Given the description of an element on the screen output the (x, y) to click on. 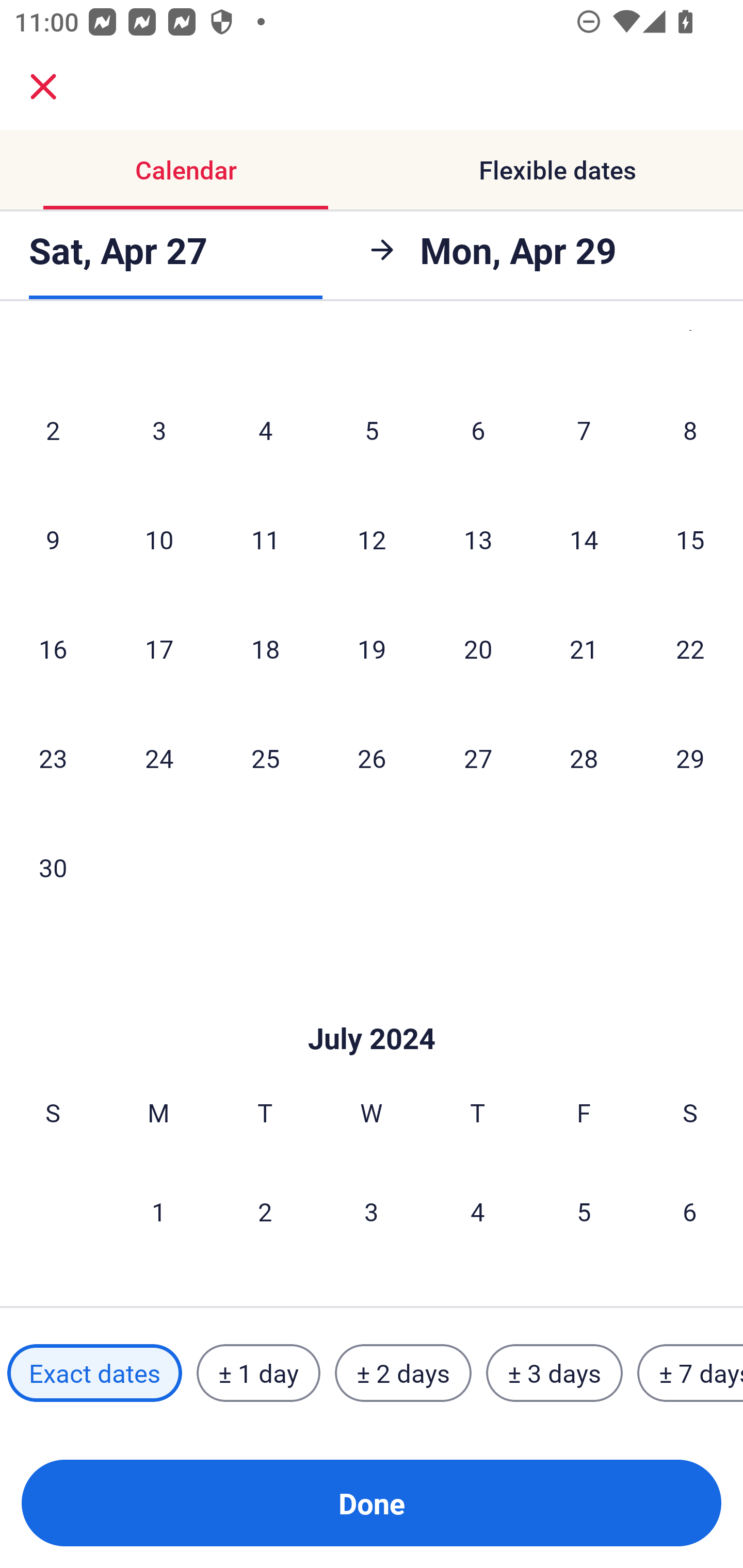
close. (43, 86)
Flexible dates (557, 170)
2 Sunday, June 2, 2024 (53, 429)
3 Monday, June 3, 2024 (159, 429)
4 Tuesday, June 4, 2024 (265, 429)
5 Wednesday, June 5, 2024 (371, 429)
6 Thursday, June 6, 2024 (477, 429)
7 Friday, June 7, 2024 (584, 429)
8 Saturday, June 8, 2024 (690, 429)
9 Sunday, June 9, 2024 (53, 539)
10 Monday, June 10, 2024 (159, 539)
11 Tuesday, June 11, 2024 (265, 539)
12 Wednesday, June 12, 2024 (371, 539)
13 Thursday, June 13, 2024 (477, 539)
14 Friday, June 14, 2024 (584, 539)
15 Saturday, June 15, 2024 (690, 539)
16 Sunday, June 16, 2024 (53, 647)
17 Monday, June 17, 2024 (159, 647)
18 Tuesday, June 18, 2024 (265, 647)
19 Wednesday, June 19, 2024 (371, 647)
20 Thursday, June 20, 2024 (477, 647)
21 Friday, June 21, 2024 (584, 647)
22 Saturday, June 22, 2024 (690, 647)
23 Sunday, June 23, 2024 (53, 757)
24 Monday, June 24, 2024 (159, 757)
25 Tuesday, June 25, 2024 (265, 757)
26 Wednesday, June 26, 2024 (371, 757)
27 Thursday, June 27, 2024 (477, 757)
28 Friday, June 28, 2024 (584, 757)
29 Saturday, June 29, 2024 (690, 757)
30 Sunday, June 30, 2024 (53, 866)
Skip to Done (371, 1007)
1 Monday, July 1, 2024 (158, 1210)
2 Tuesday, July 2, 2024 (264, 1210)
3 Wednesday, July 3, 2024 (371, 1210)
4 Thursday, July 4, 2024 (477, 1210)
5 Friday, July 5, 2024 (583, 1210)
6 Saturday, July 6, 2024 (689, 1210)
Exact dates (94, 1372)
± 1 day (258, 1372)
± 2 days (403, 1372)
± 3 days (553, 1372)
± 7 days (690, 1372)
Done (371, 1502)
